Given the description of an element on the screen output the (x, y) to click on. 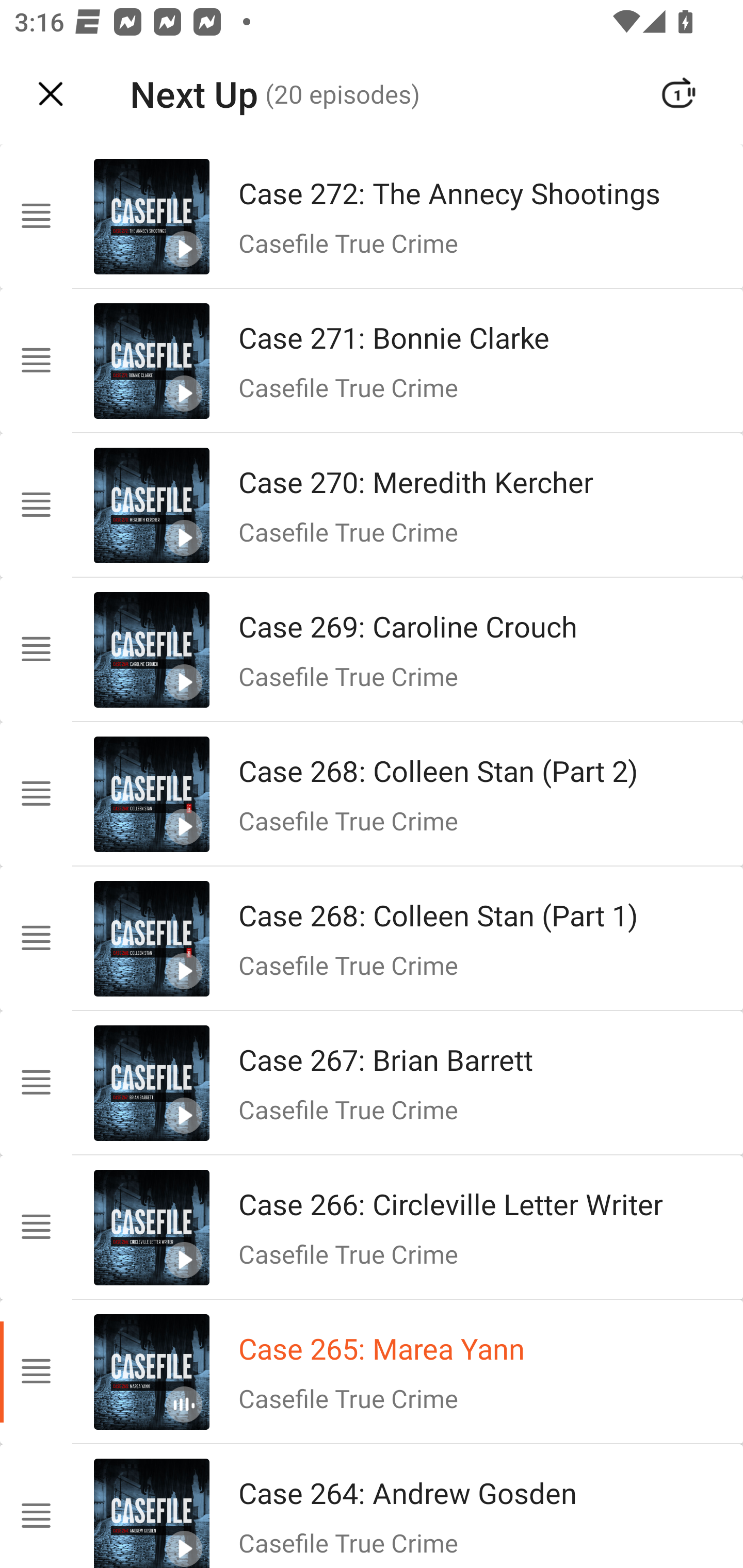
Navigate up (50, 93)
